Given the description of an element on the screen output the (x, y) to click on. 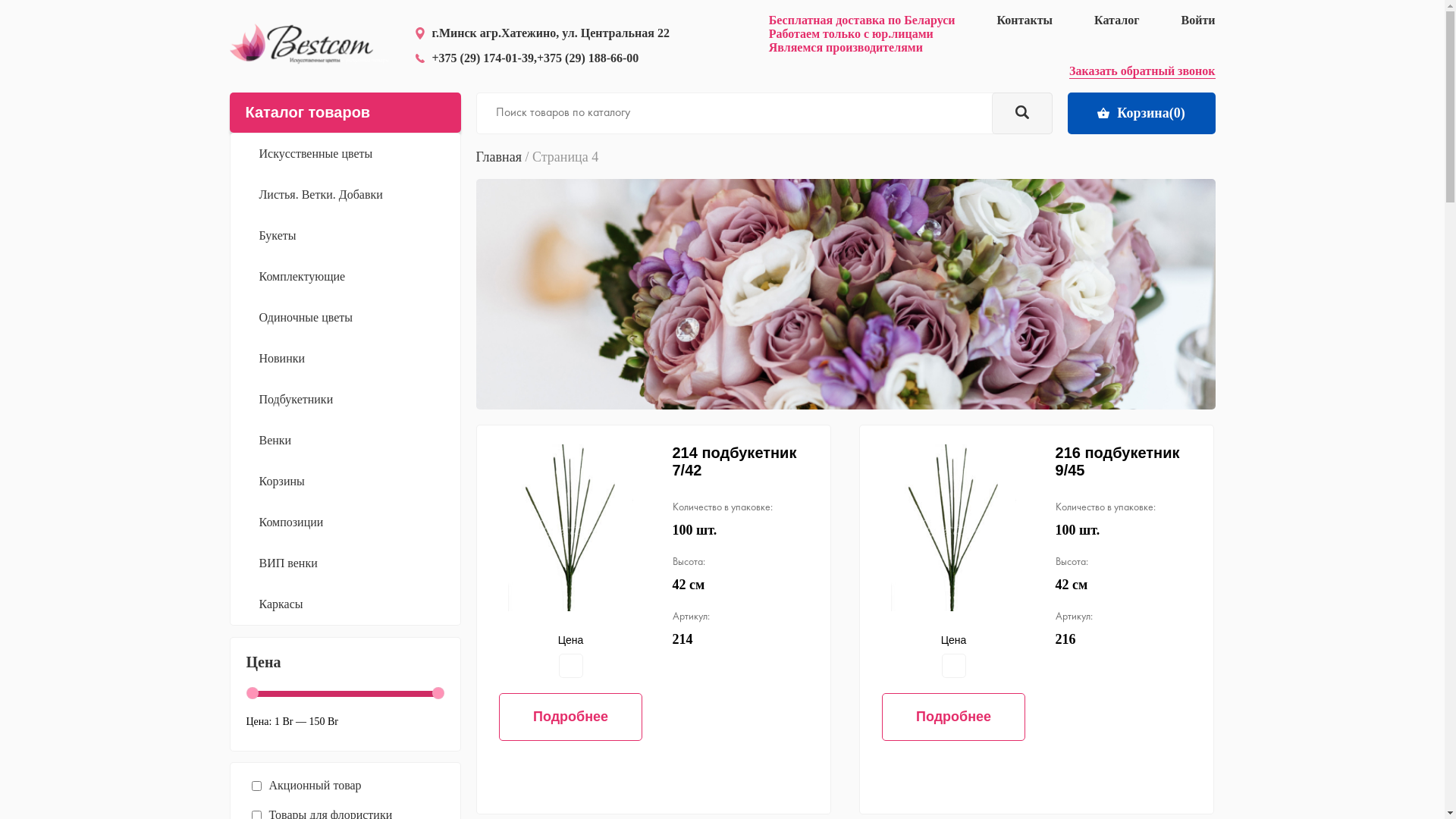
+375 (29) 174-01-39 Element type: text (482, 58)
+375 (29) 188-66-00 Element type: text (587, 58)
